Given the description of an element on the screen output the (x, y) to click on. 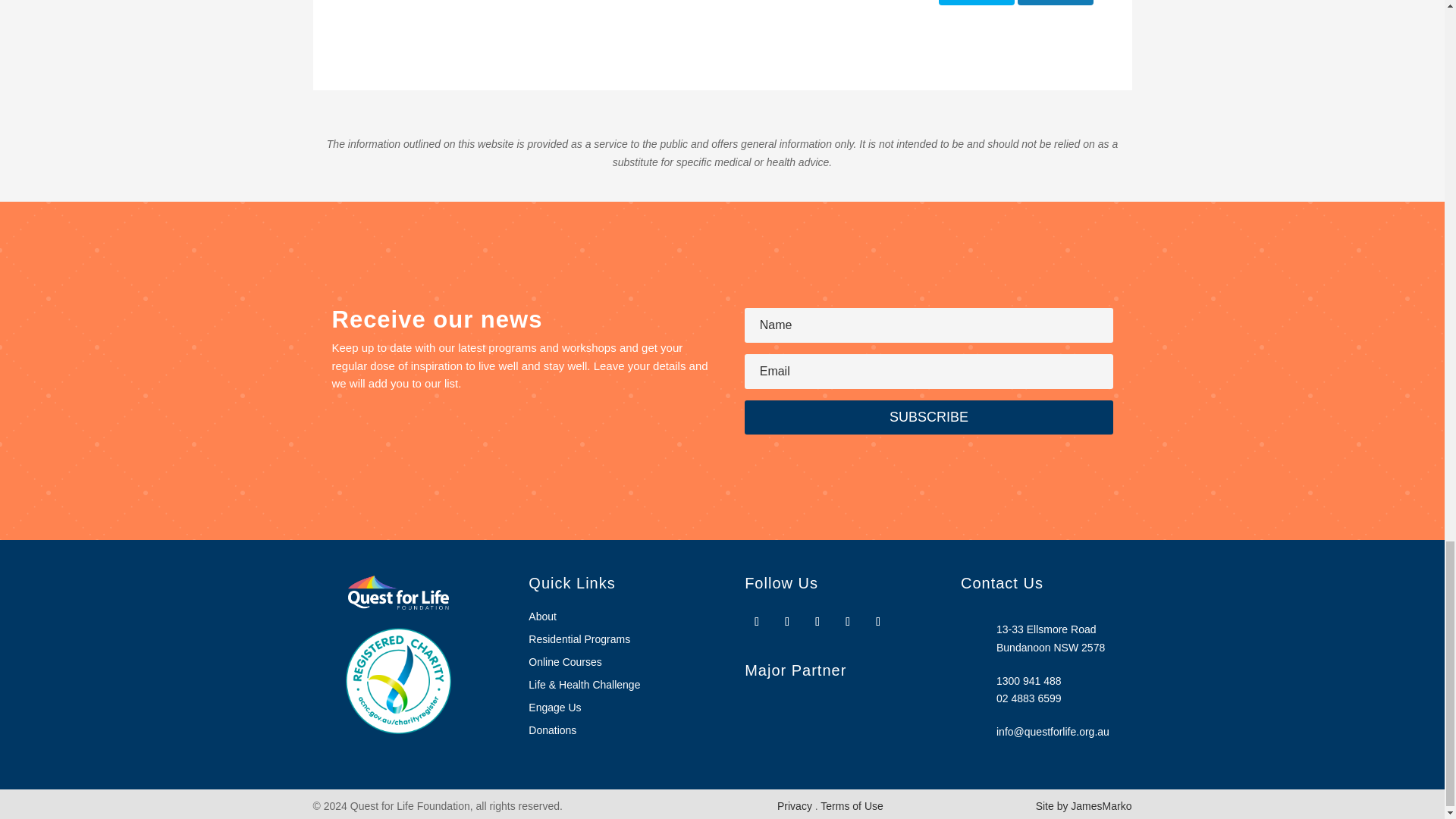
Follow on X (817, 621)
Follow on LinkedIn (877, 621)
Follow on Youtube (847, 621)
Follow on Facebook (756, 621)
Follow on Instagram (786, 621)
